Given the description of an element on the screen output the (x, y) to click on. 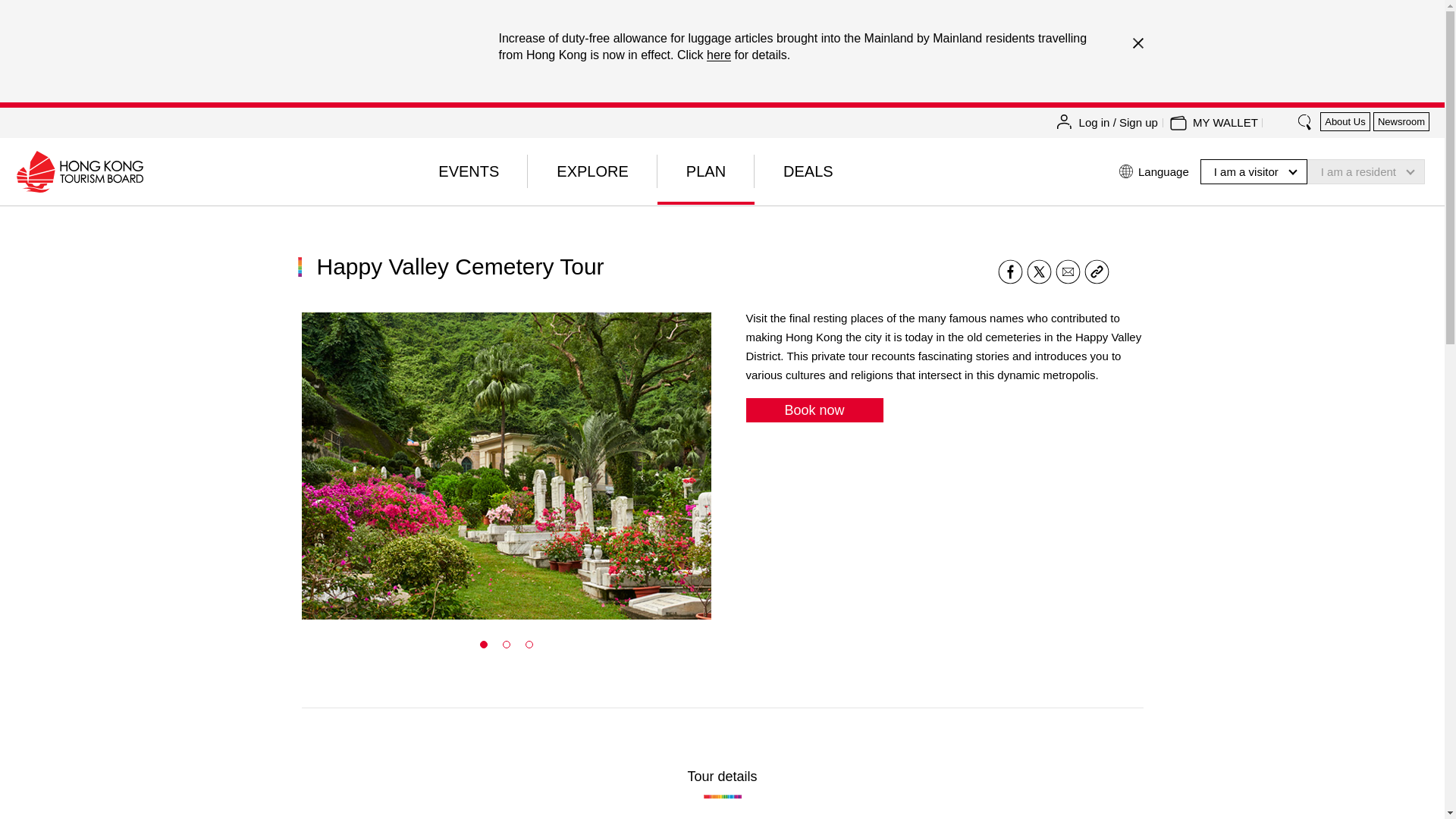
PLAN (706, 171)
MY WALLET (1224, 122)
here (718, 54)
Hong Kong Tourism Board (79, 171)
EXPLORE (591, 171)
Newsroom (1401, 121)
About Us (1345, 121)
